Given the description of an element on the screen output the (x, y) to click on. 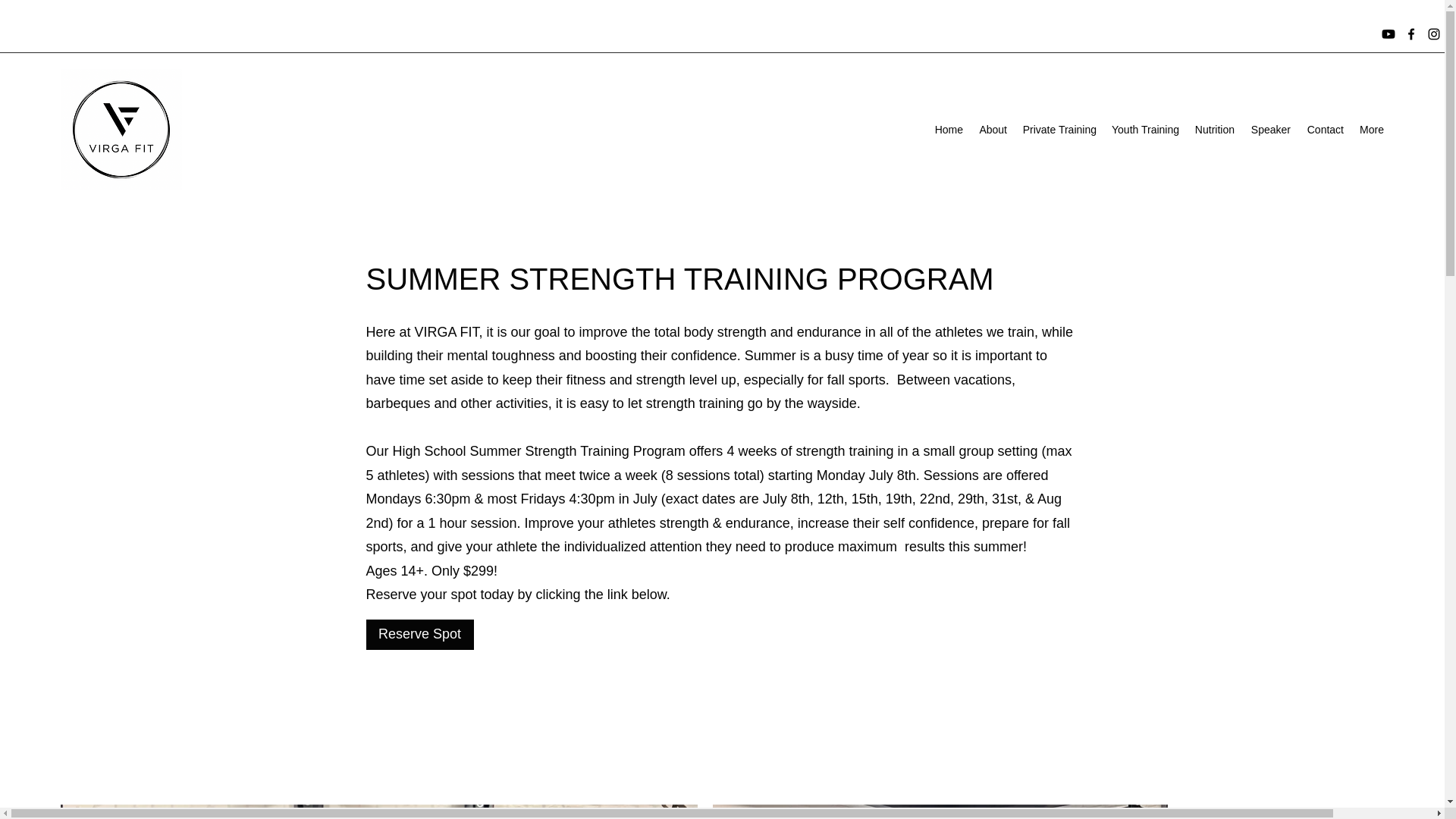
Contact (1324, 128)
Reserve Spot (419, 634)
Nutrition (1213, 128)
Speaker (1269, 128)
Youth Training (1144, 128)
Home (948, 128)
About (992, 128)
Private Training (1058, 128)
